Given the description of an element on the screen output the (x, y) to click on. 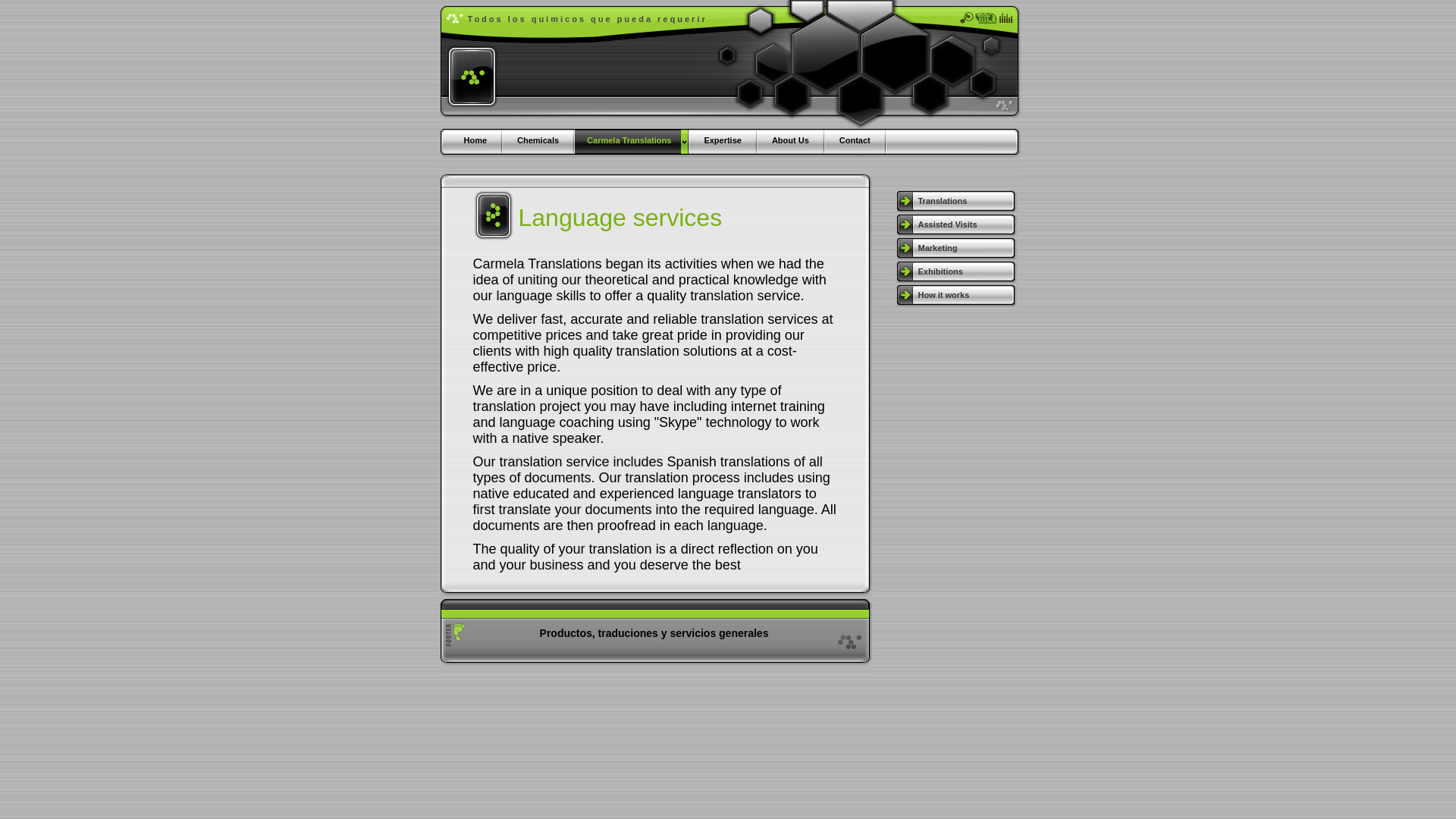
About Us (791, 141)
How it works (955, 295)
Home (475, 141)
Expertise (722, 141)
Exhibitions (955, 271)
Chemicals (538, 141)
Contact (855, 141)
Carmela Translations (631, 141)
Assisted Visits (955, 224)
Translations (955, 200)
